Given the description of an element on the screen output the (x, y) to click on. 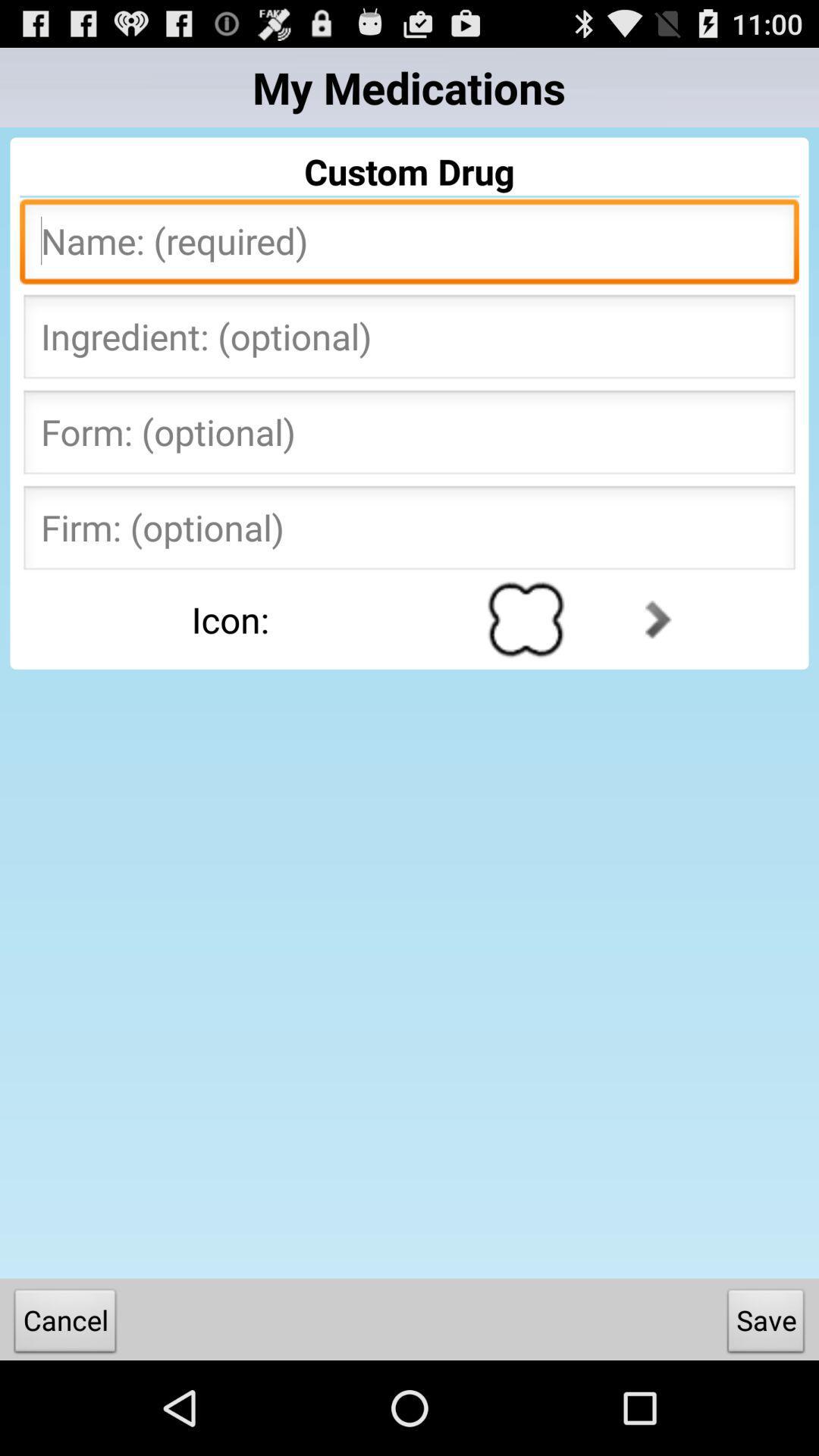
flip to the cancel (65, 1324)
